Given the description of an element on the screen output the (x, y) to click on. 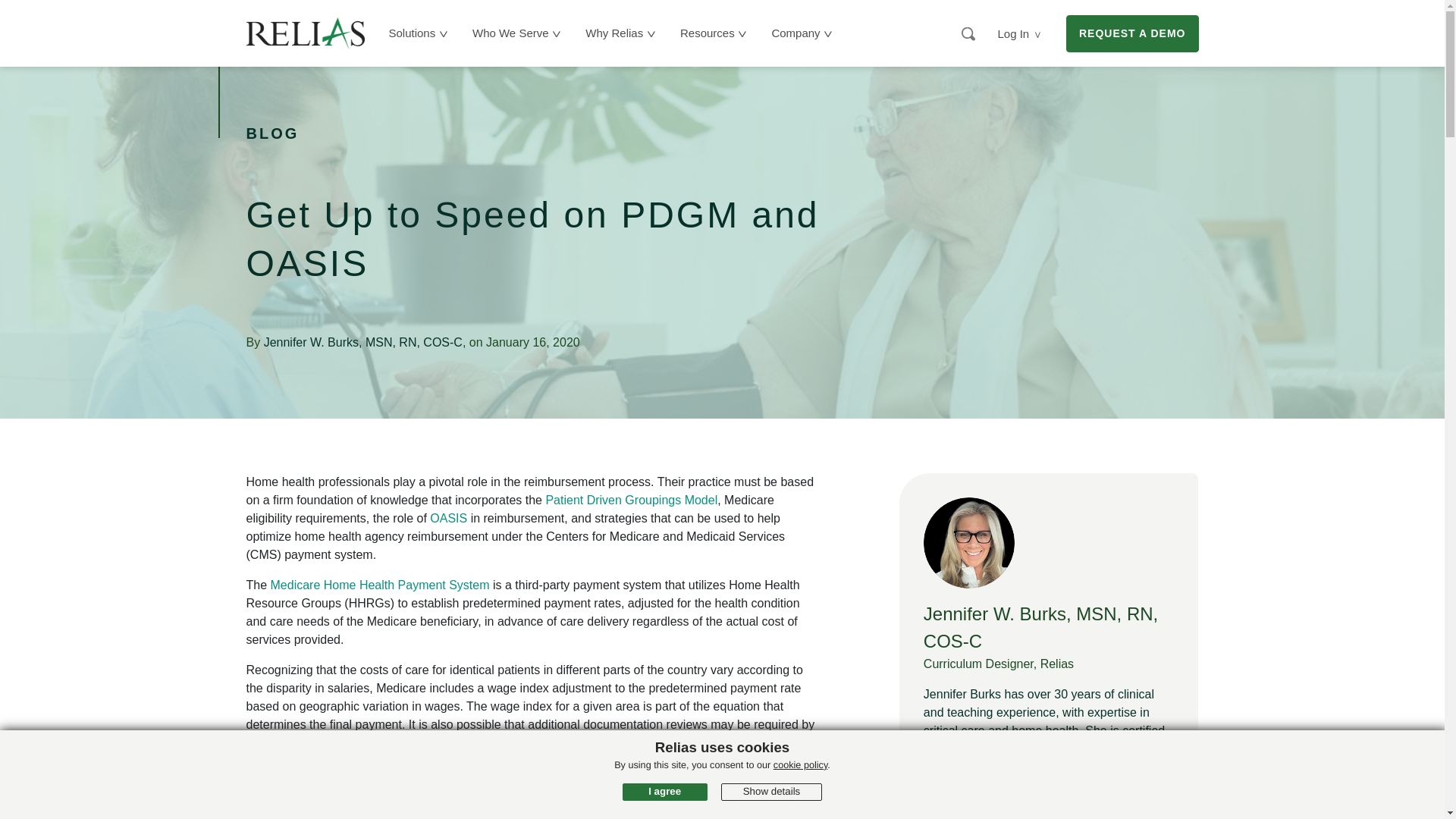
I agree (665, 791)
Show details (771, 791)
cookie policy (800, 765)
